Given the description of an element on the screen output the (x, y) to click on. 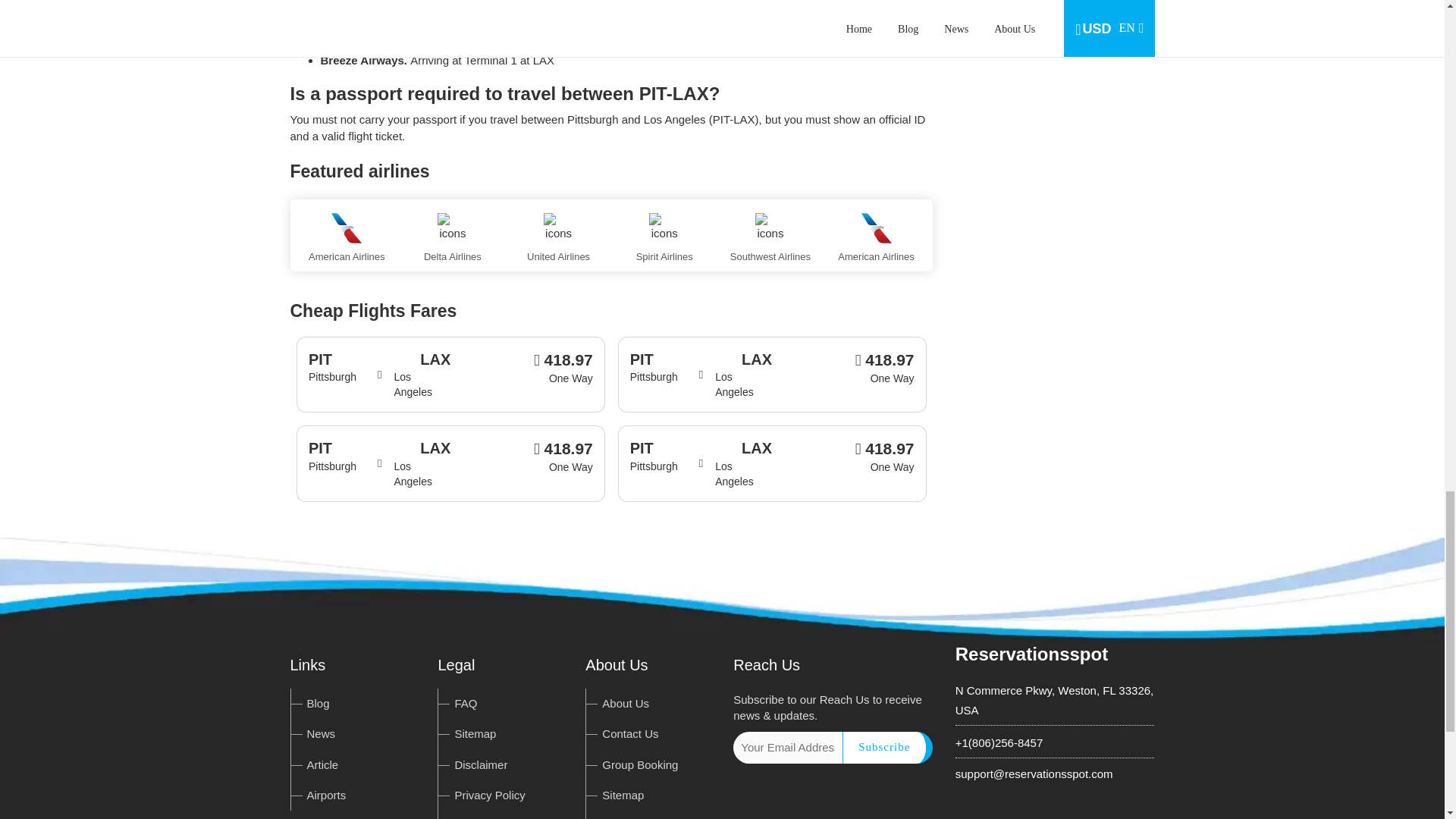
Article (321, 764)
Blog (317, 703)
Sitemap (622, 794)
Contact Us (630, 733)
About Us (625, 703)
Sitemap (475, 733)
Group Booking (640, 764)
News (319, 733)
FAQ (465, 703)
Airports (325, 794)
Disclaimer (480, 764)
Privacy Policy (489, 794)
